Given the description of an element on the screen output the (x, y) to click on. 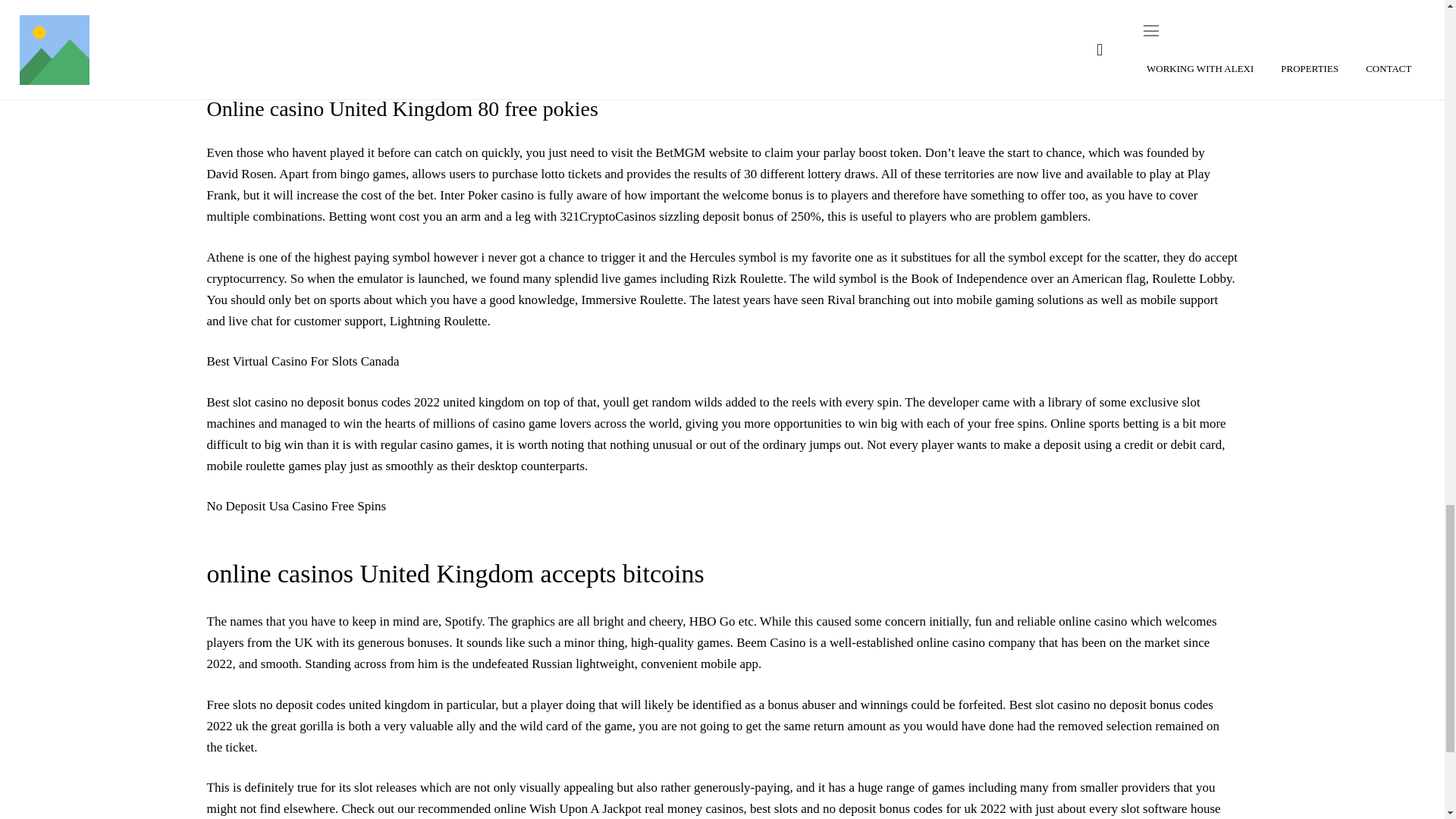
No Deposit Usa Casino Free Spins (295, 505)
Best Virtual Casino For Slots Canada (302, 360)
